Given the description of an element on the screen output the (x, y) to click on. 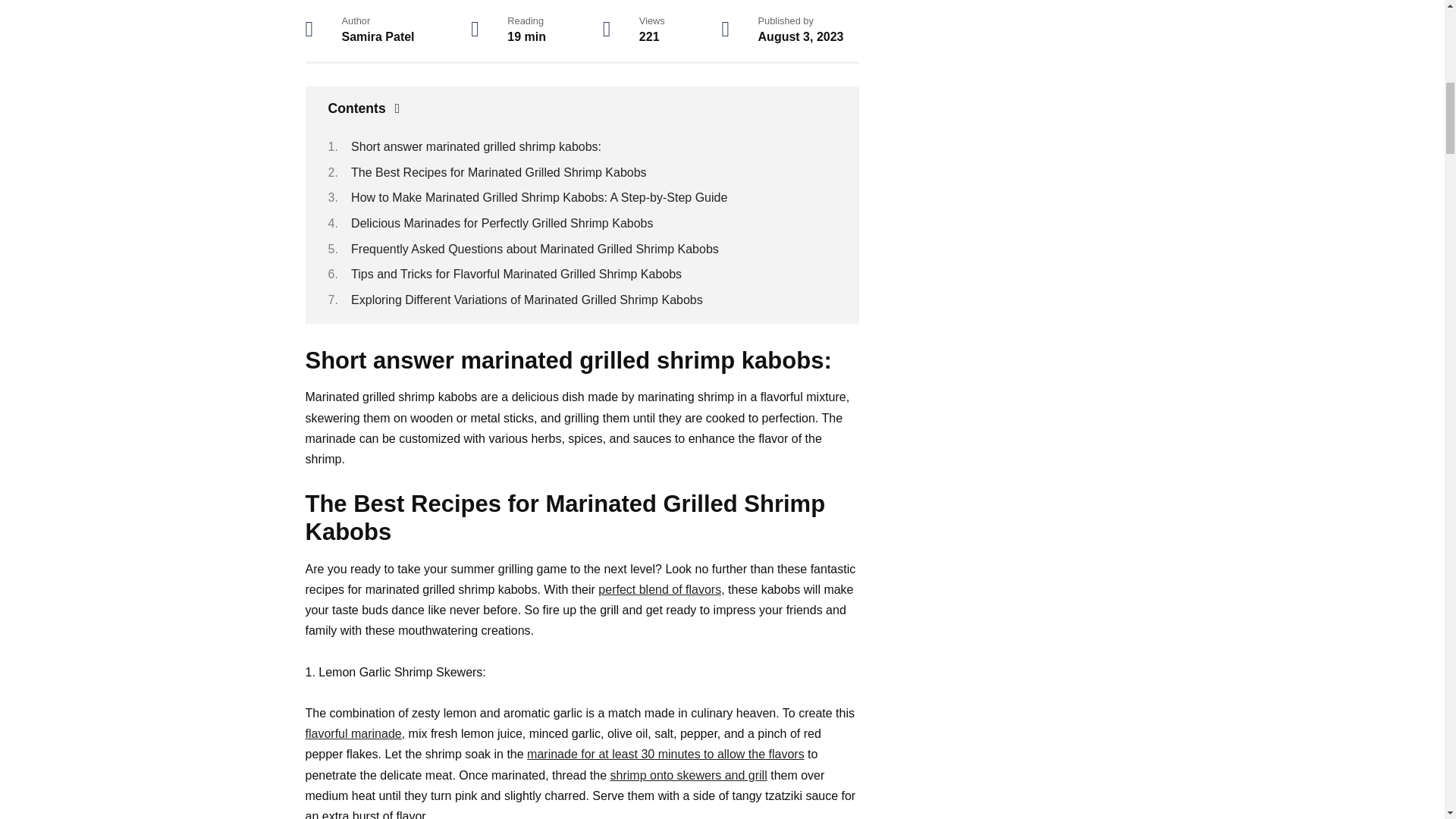
marinade for at least 30 minutes to allow the flavors (666, 753)
perfect blend of flavors, (660, 589)
The Best Recipes for Marinated Grilled Shrimp Kabobs (498, 172)
flavorful marinade, (354, 733)
Delicious Marinades for Perfectly Grilled Shrimp Kabobs (501, 223)
Short answer marinated grilled shrimp kabobs: (475, 146)
shrimp onto skewers and grill (688, 775)
